Given the description of an element on the screen output the (x, y) to click on. 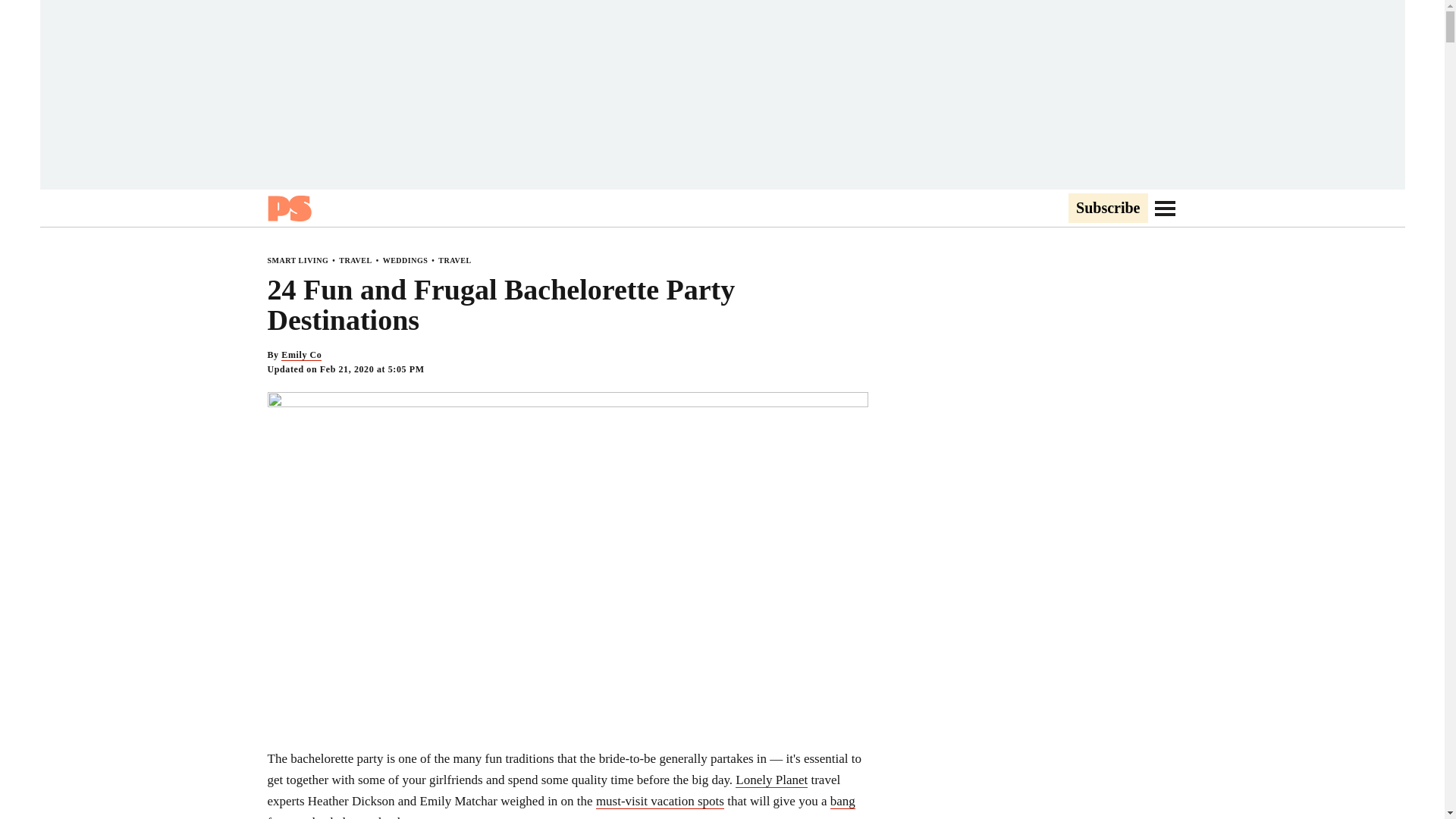
Popsugar (288, 208)
must-visit vacation spots (659, 801)
Go to Navigation (1164, 207)
Go to Navigation (1164, 207)
Subscribe (1107, 208)
Lonely Planet (771, 780)
Emily Co (301, 355)
WEDDINGS (405, 260)
TRAVEL (355, 260)
TRAVEL (454, 260)
bang for your bachelorette bucks (560, 806)
SMART LIVING (297, 260)
